Given the description of an element on the screen output the (x, y) to click on. 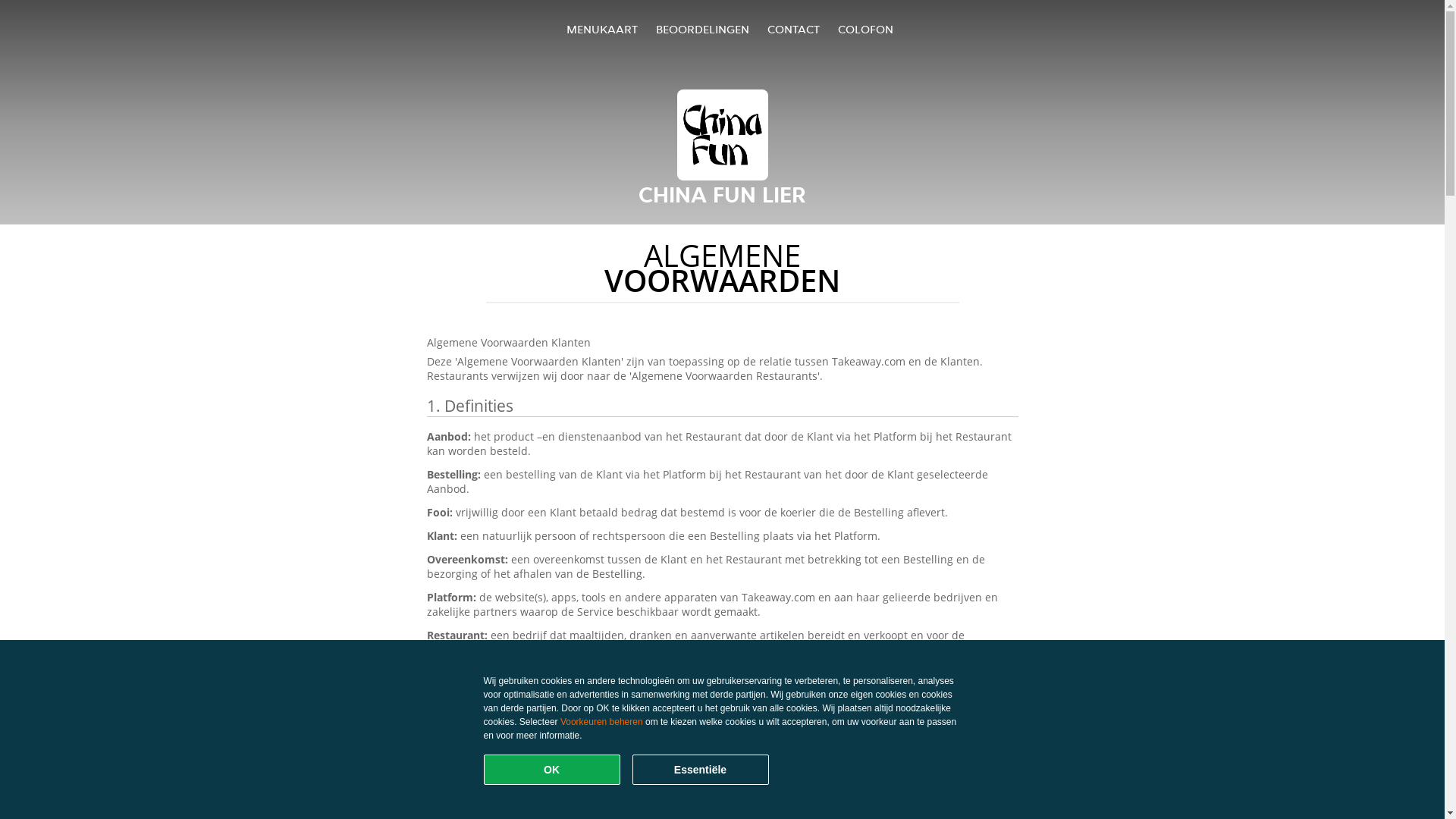
BEOORDELINGEN Element type: text (702, 29)
Voorkeuren beheren Element type: text (601, 721)
CONTACT Element type: text (793, 29)
OK Element type: text (551, 769)
MENUKAART Element type: text (601, 29)
COLOFON Element type: text (865, 29)
